Given the description of an element on the screen output the (x, y) to click on. 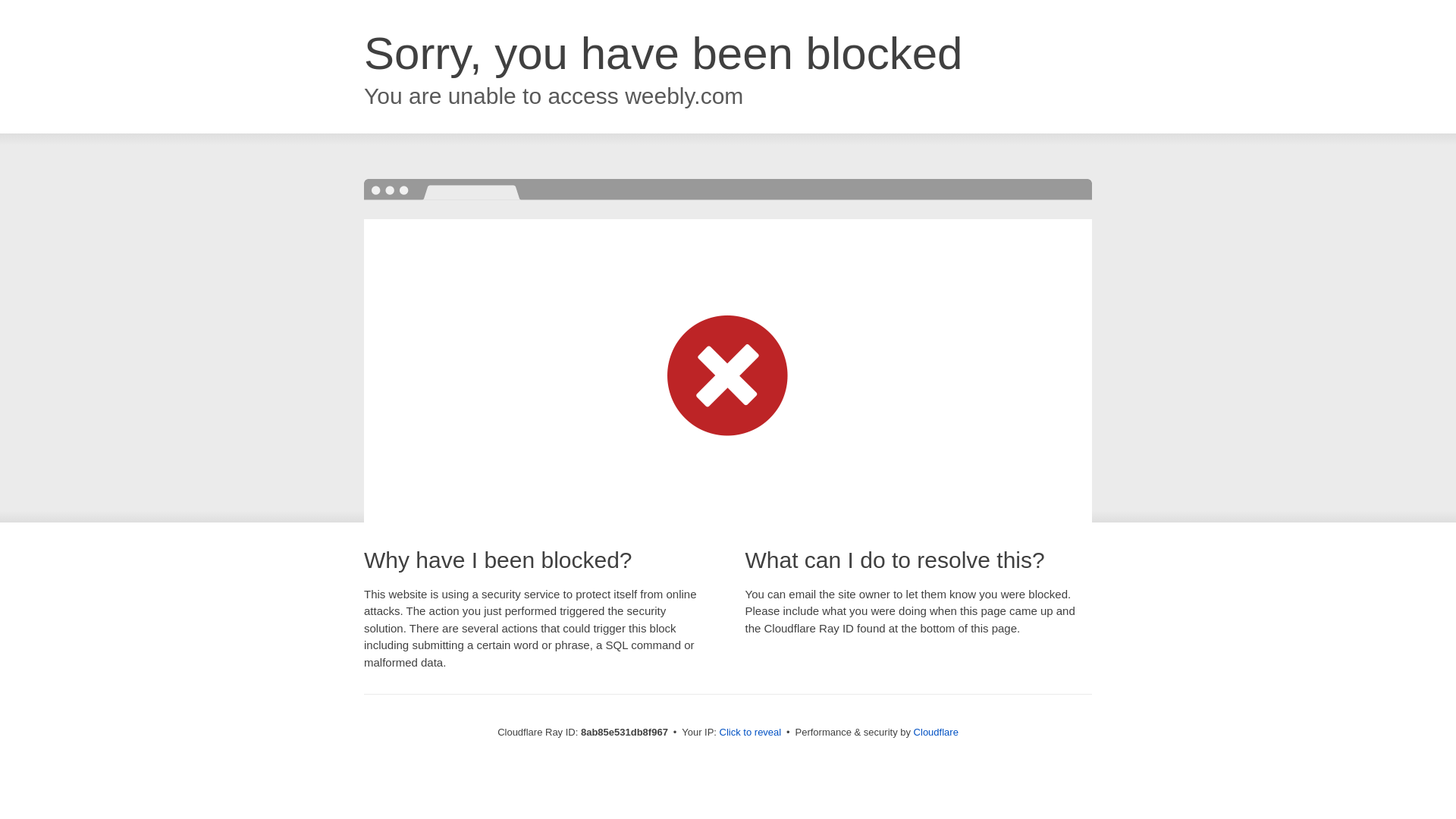
Click to reveal (750, 732)
Cloudflare (936, 731)
